Given the description of an element on the screen output the (x, y) to click on. 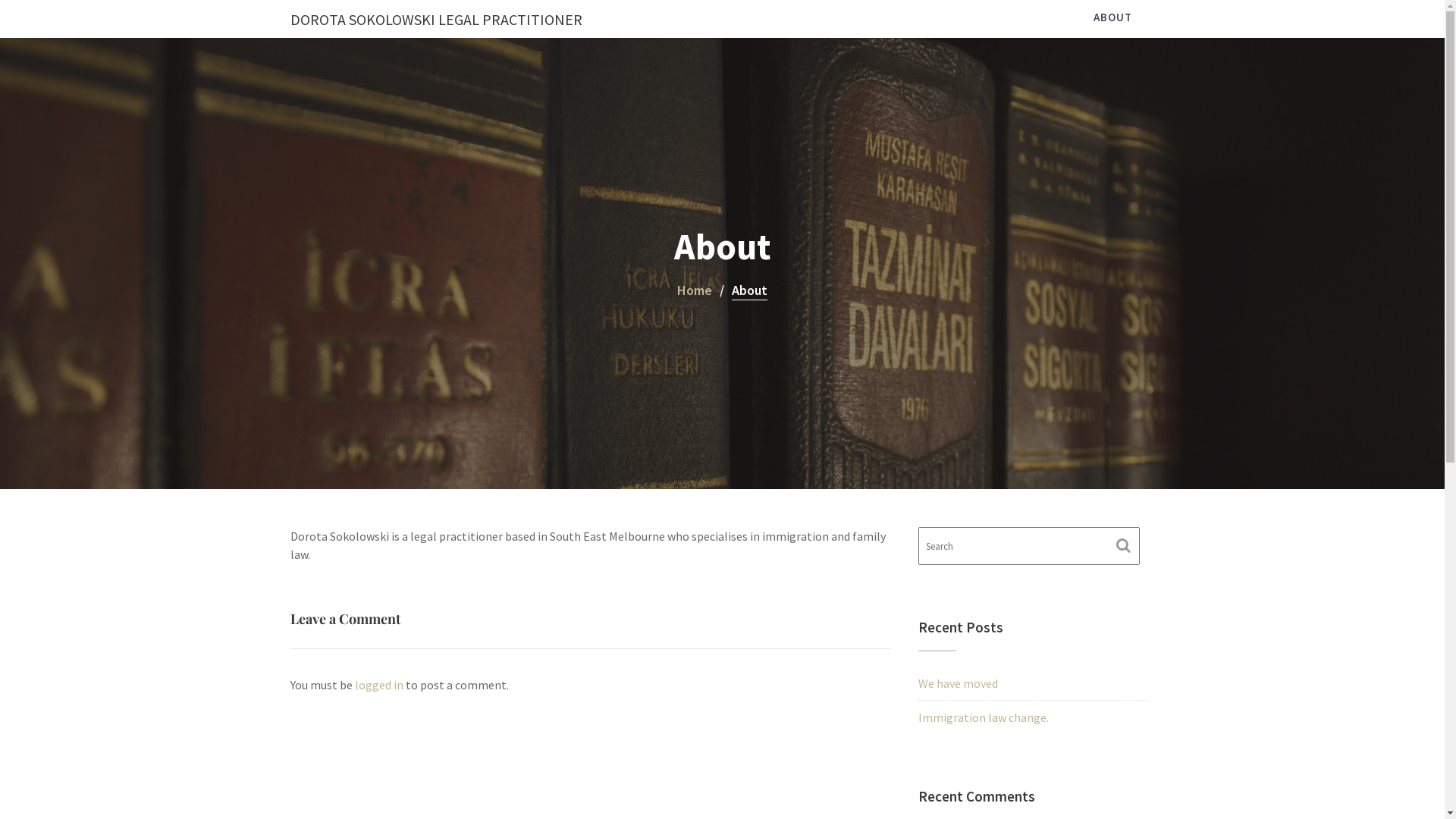
ABOUT Element type: text (1111, 17)
Skip to content Element type: text (0, 0)
Home Element type: text (694, 290)
We have moved Element type: text (957, 682)
DOROTA SOKOLOWSKI LEGAL PRACTITIONER Element type: text (435, 18)
Immigration law change. Element type: text (983, 716)
logged in Element type: text (378, 684)
